Given the description of an element on the screen output the (x, y) to click on. 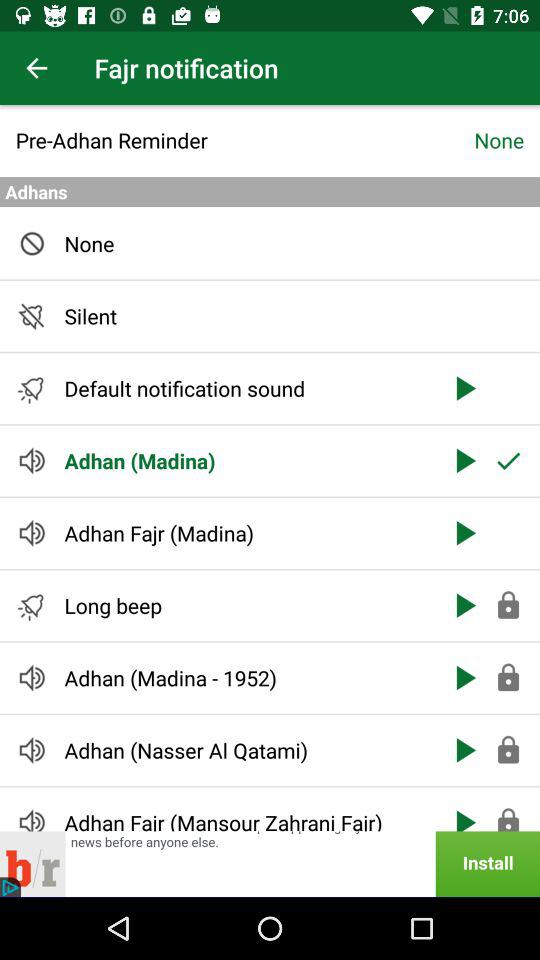
scroll to the pre-adhan reminder icon (244, 139)
